Given the description of an element on the screen output the (x, y) to click on. 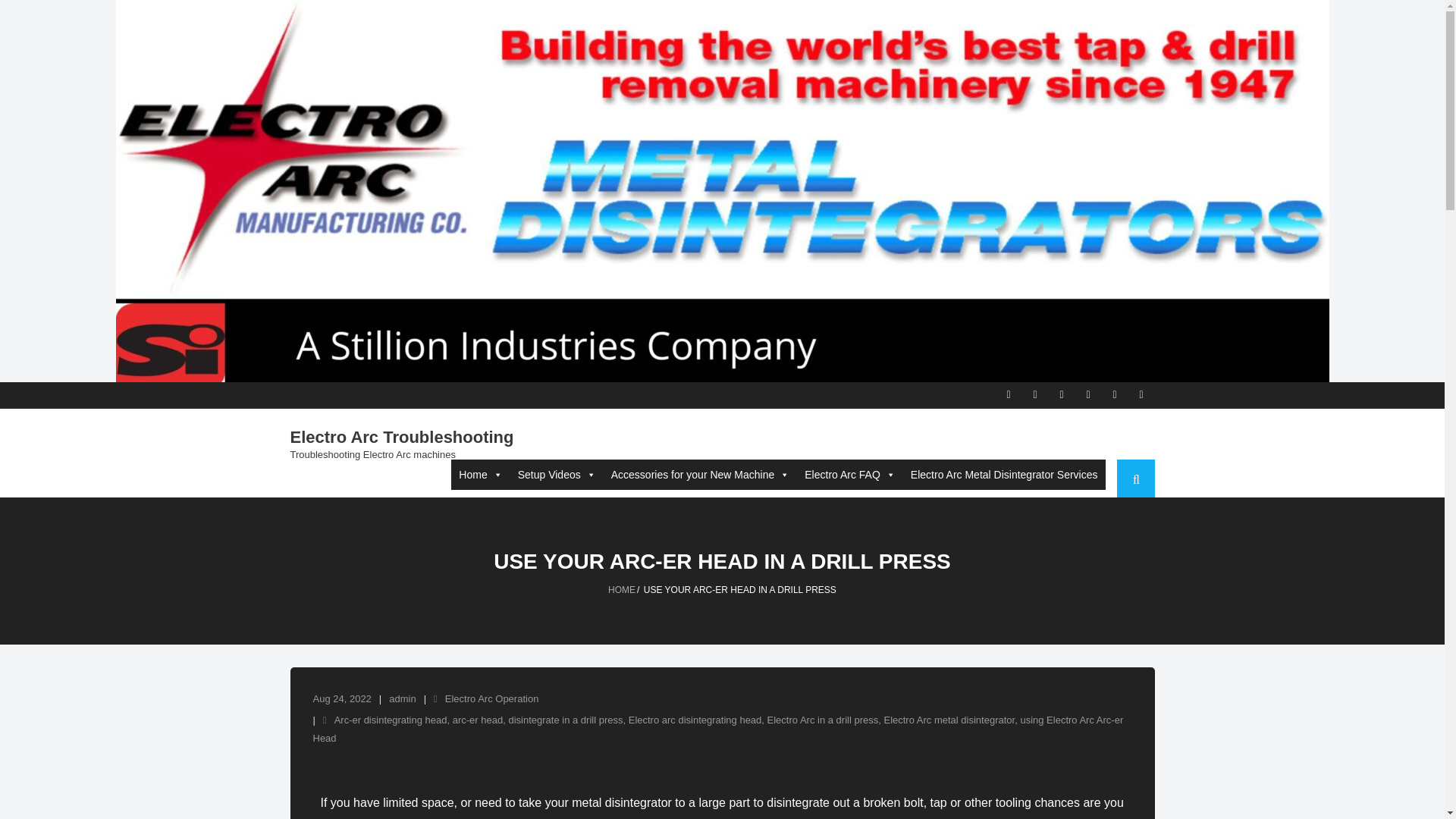
Use your Arc-er Head in a Drill Press (342, 698)
Home (480, 474)
Troubleshooting Electro Arc machines (401, 454)
View all posts by admin (401, 698)
Setup Videos (557, 474)
Electro Arc Metal Disintegrator Services (1003, 474)
Search (32, 14)
Electro Arc Troubleshooting (401, 437)
Electro Arc FAQ (849, 474)
Accessories for your New Machine (700, 474)
